Given the description of an element on the screen output the (x, y) to click on. 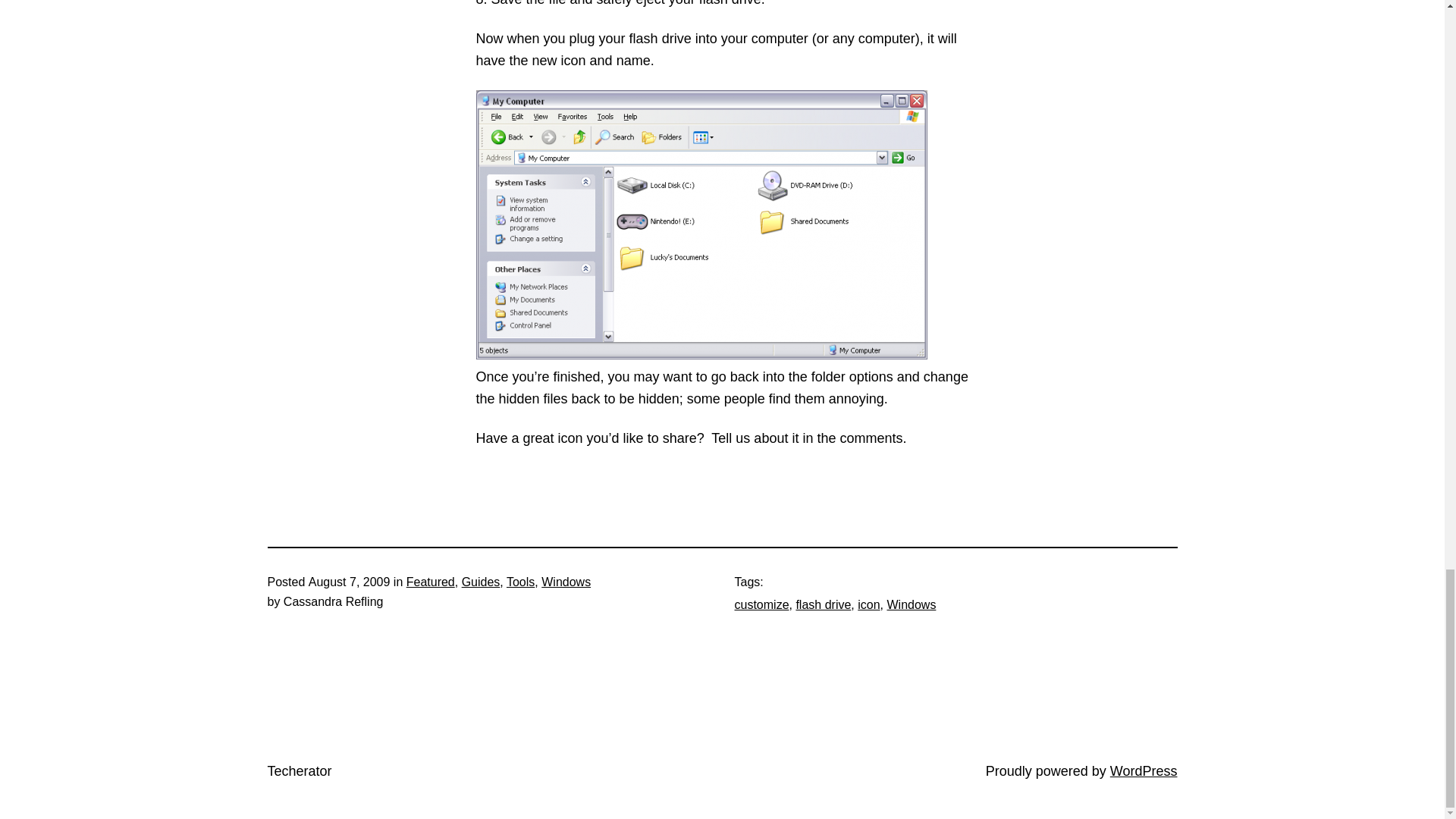
customize (761, 604)
Guides (480, 581)
Windows (911, 604)
icon (868, 604)
Windows (566, 581)
flash drive (822, 604)
Tools (520, 581)
Featured (430, 581)
After pic (701, 224)
